Given the description of an element on the screen output the (x, y) to click on. 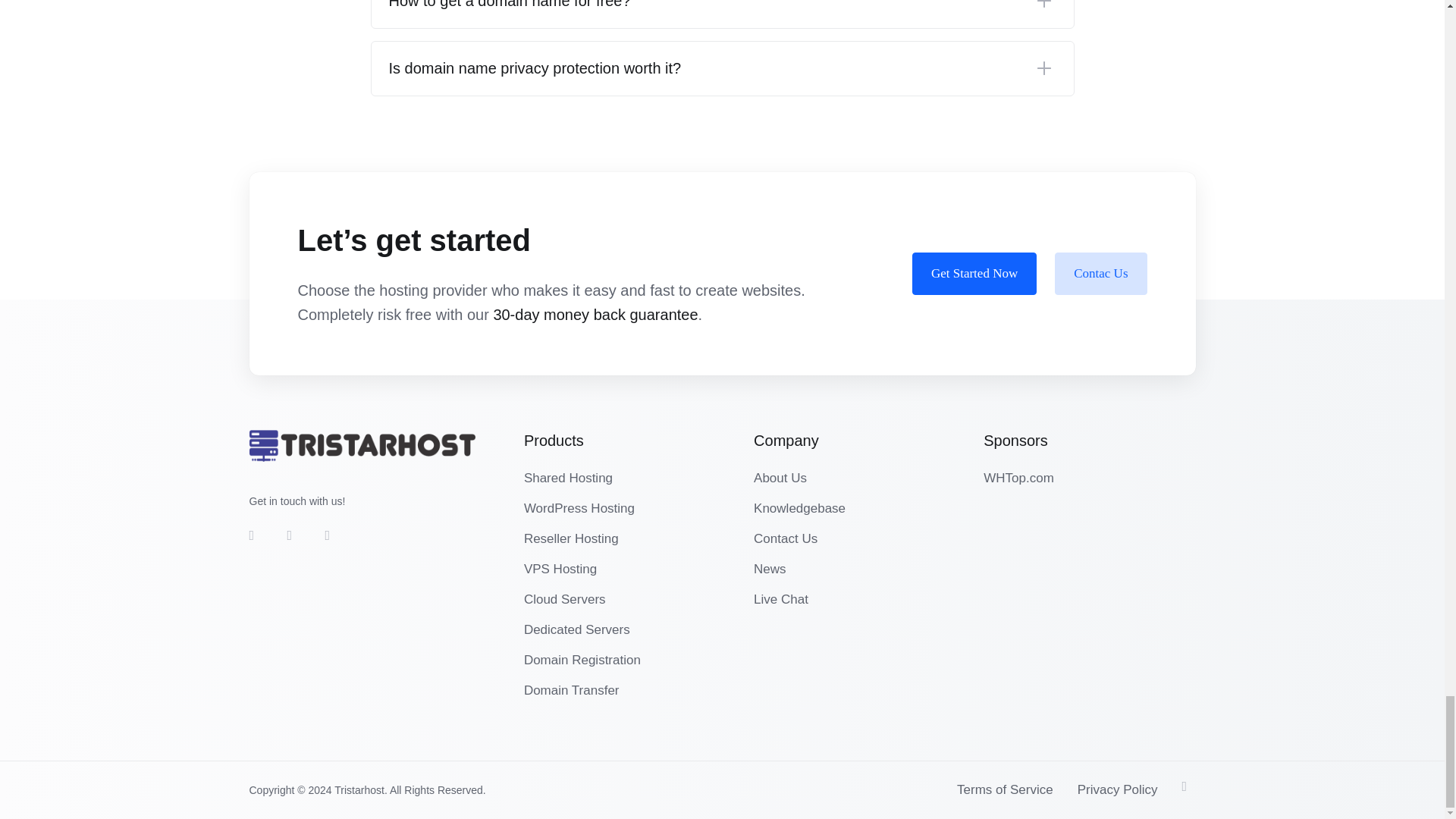
Tristarhost (361, 445)
